Given the description of an element on the screen output the (x, y) to click on. 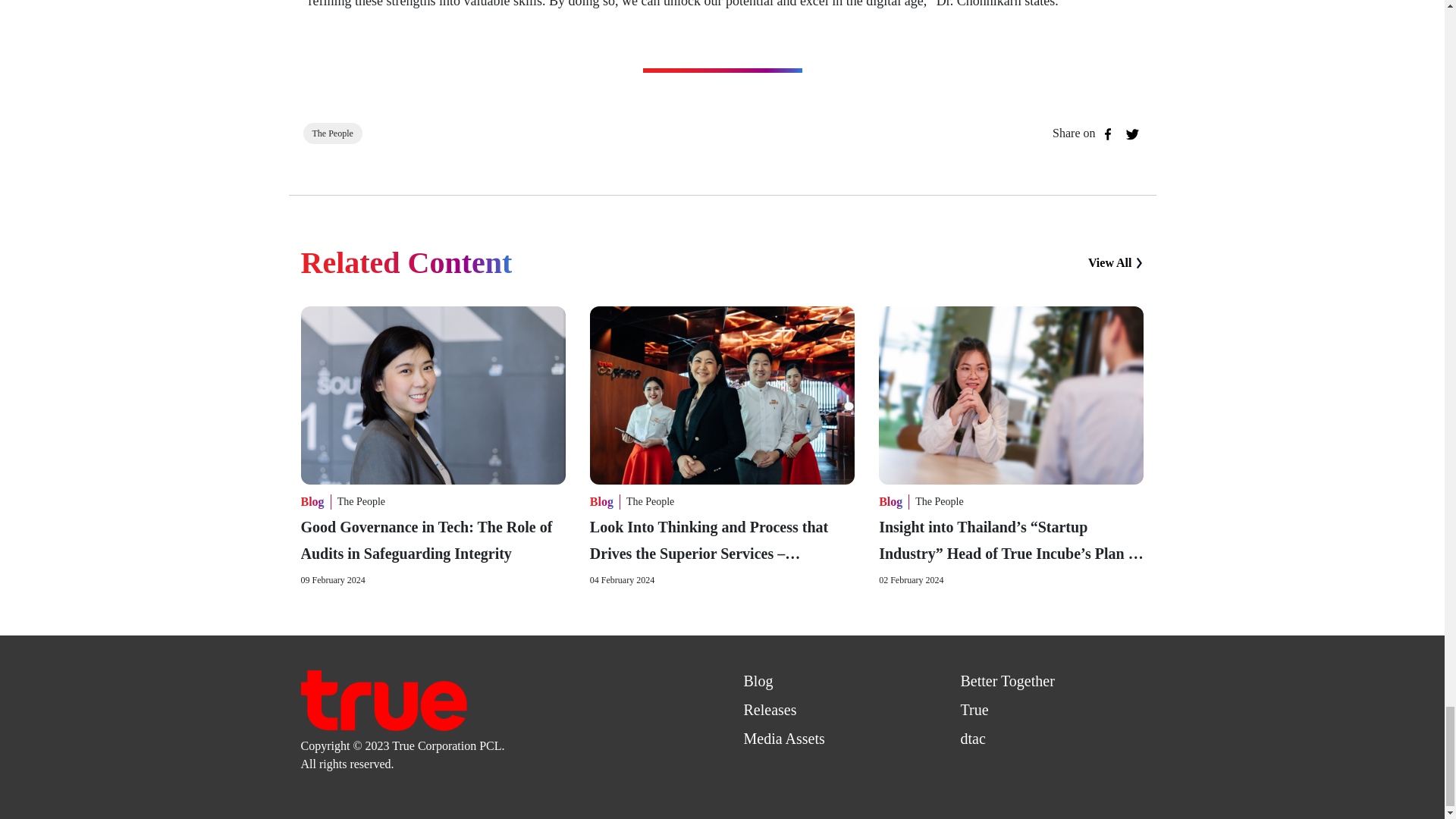
The People (333, 132)
The People (938, 501)
Twitter (1131, 133)
Releases (769, 709)
True blog (382, 698)
View All (1115, 262)
True (973, 709)
Better Together (1006, 680)
Media Assets (783, 738)
The People (361, 501)
The People (650, 501)
dtac (972, 738)
Facebook (1107, 133)
Blog (757, 680)
